Given the description of an element on the screen output the (x, y) to click on. 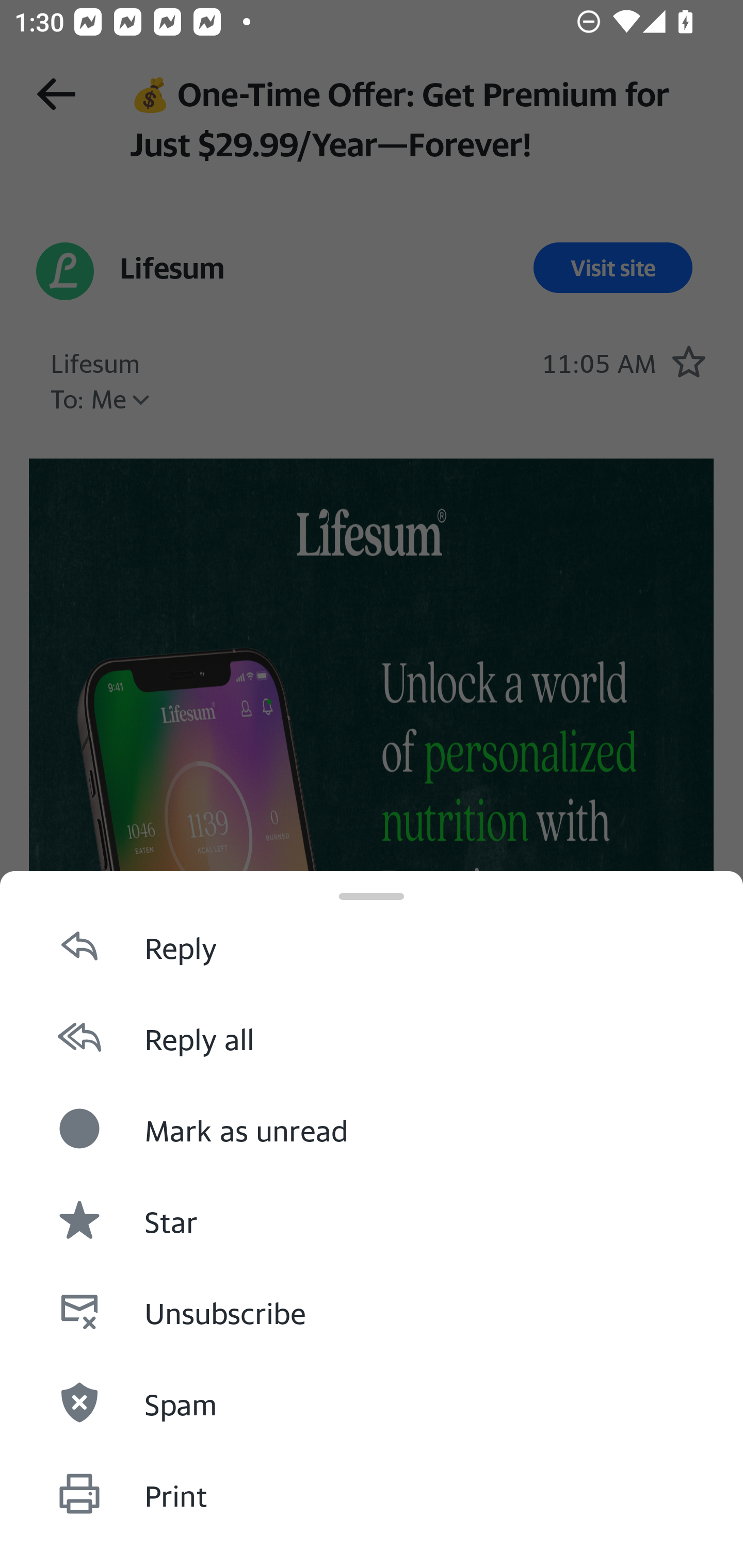
Reply (371, 945)
Reply all (371, 1035)
Mark as unread (371, 1127)
Star (371, 1219)
Unsubscribe (371, 1310)
Spam (371, 1401)
Print (371, 1493)
